Given the description of an element on the screen output the (x, y) to click on. 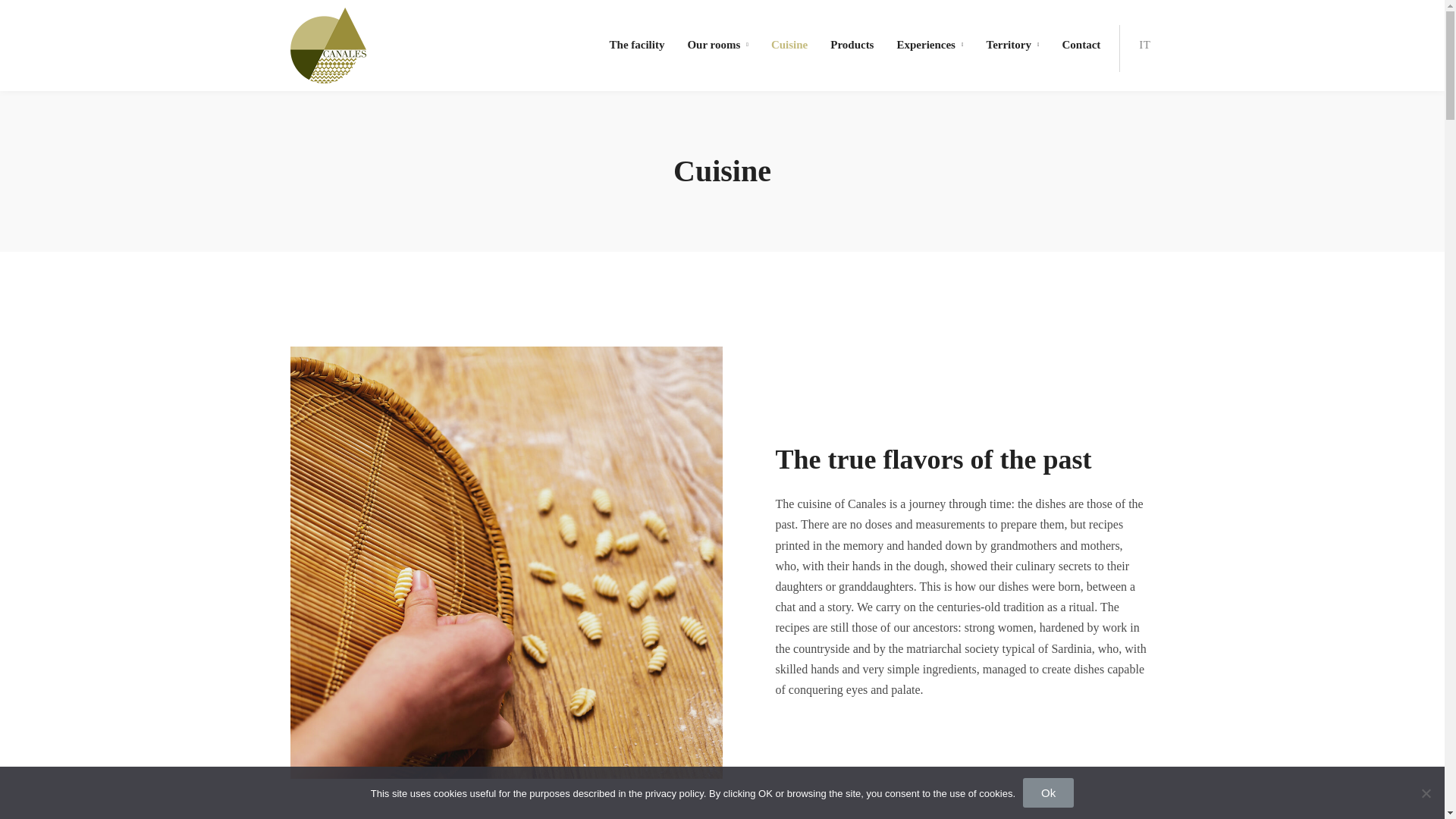
Our rooms (716, 45)
Cuisine (788, 45)
Products (852, 45)
The facility (636, 45)
Experiences (929, 45)
